Given the description of an element on the screen output the (x, y) to click on. 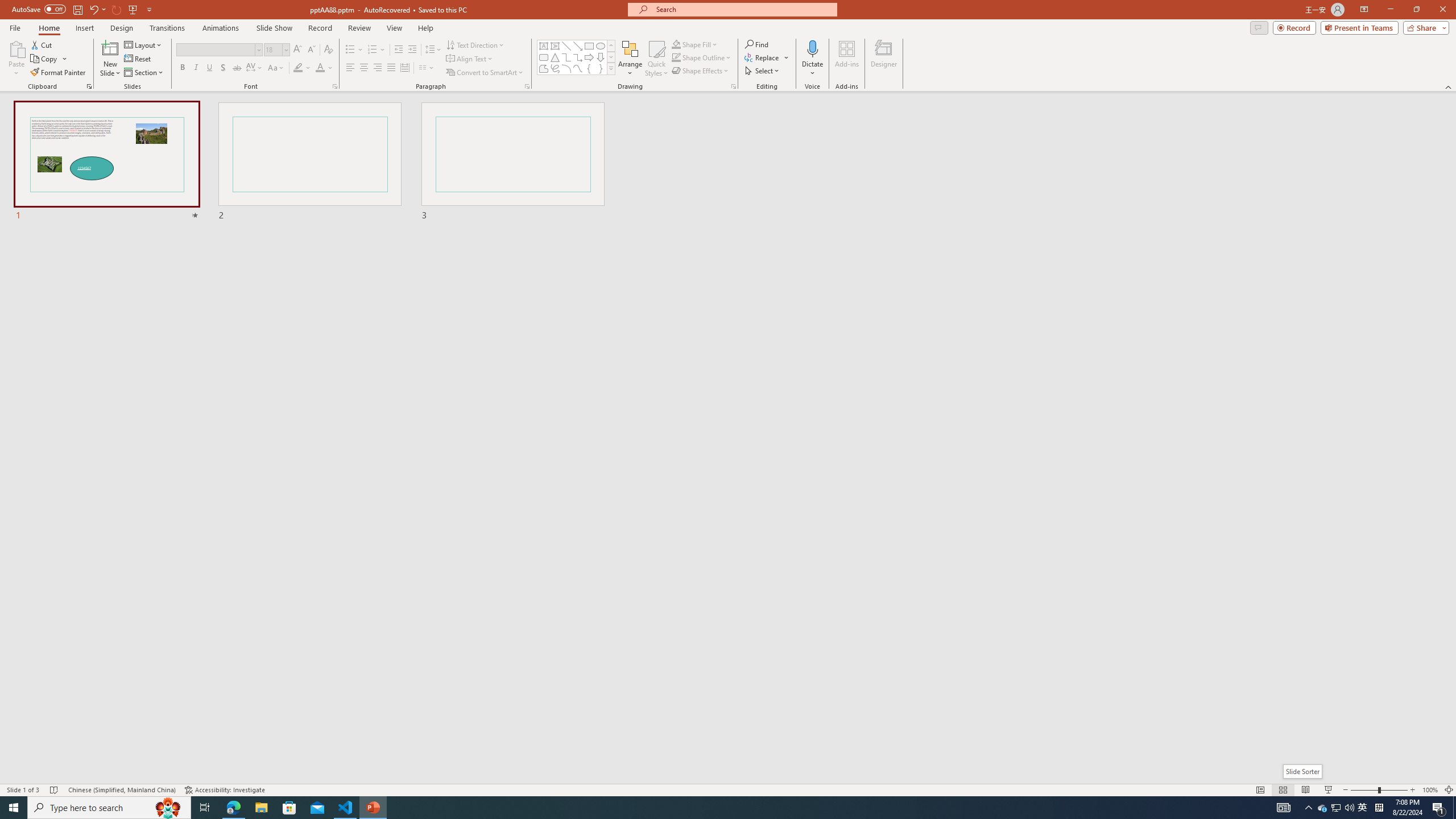
Font Size (276, 49)
Accessibility Checker Accessibility: Investigate (224, 790)
Shape Outline (701, 56)
Designer (883, 58)
Numbering (376, 49)
Increase Font Size (297, 49)
Minimize (1390, 9)
Increase Indent (412, 49)
AutoSave (38, 9)
Restore Down (1416, 9)
Comments (1259, 27)
Distributed (404, 67)
Reset (138, 58)
Normal (1260, 790)
